Given the description of an element on the screen output the (x, y) to click on. 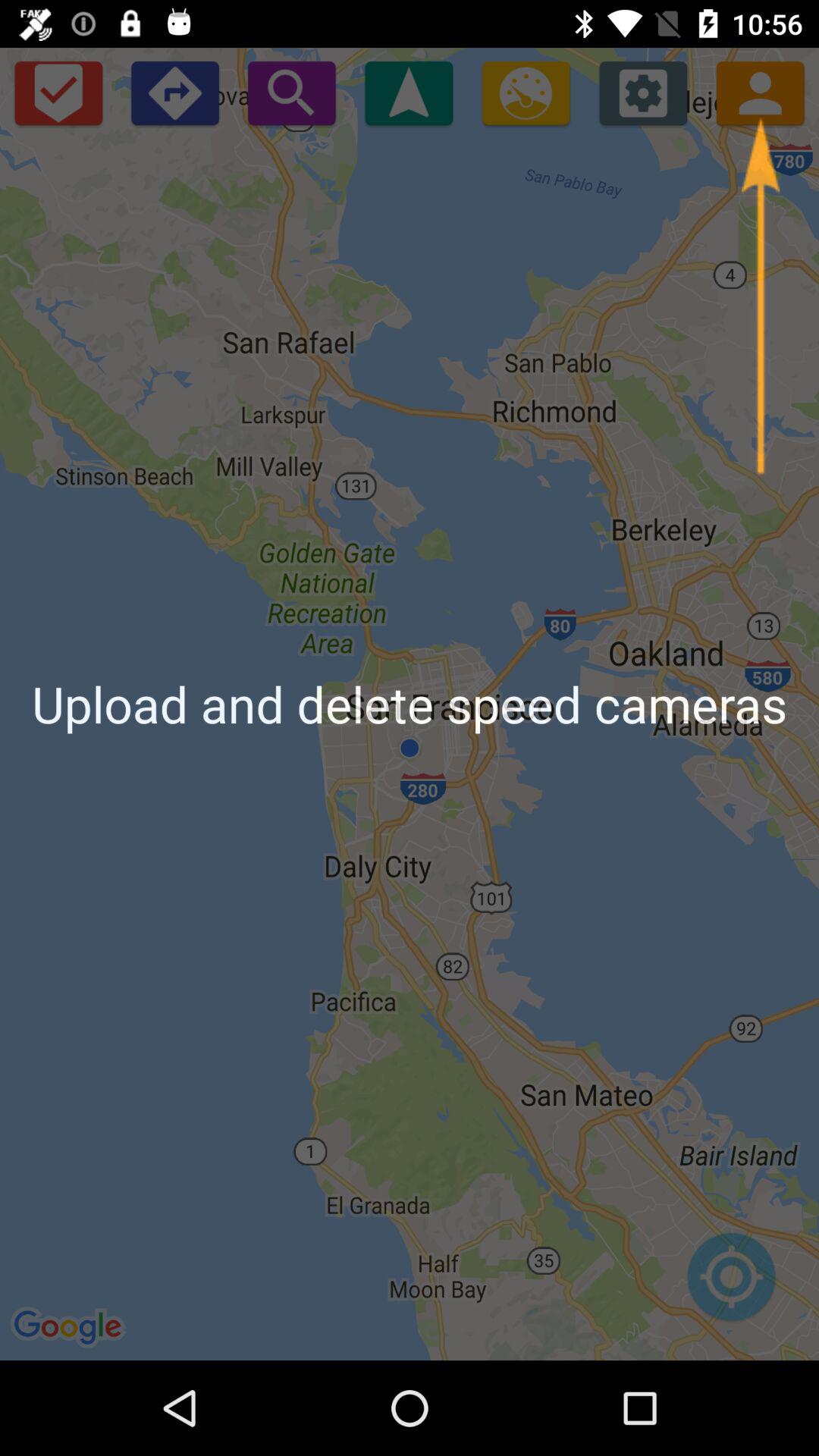
open settings (642, 92)
